Given the description of an element on the screen output the (x, y) to click on. 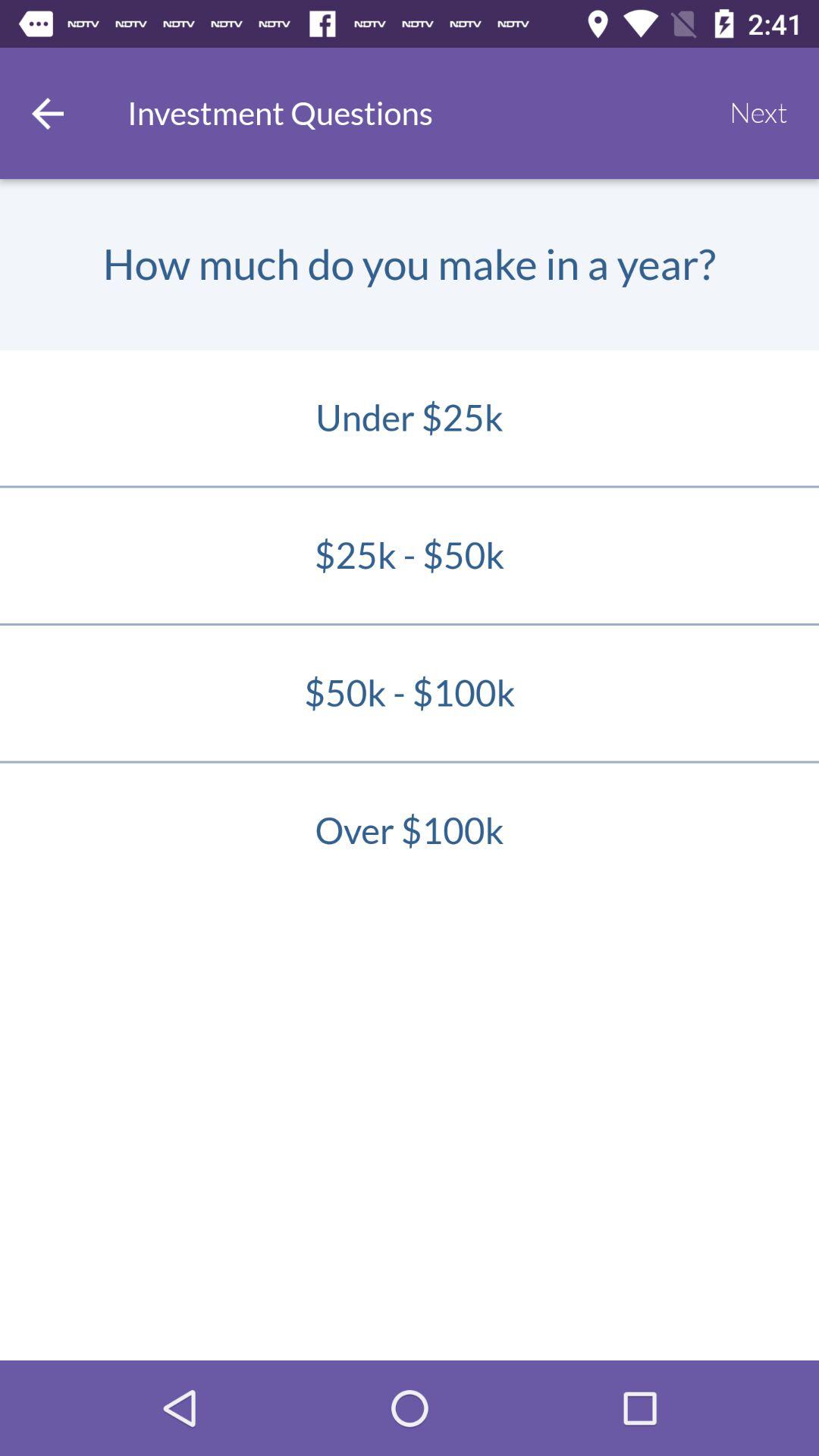
jump to next item (758, 113)
